Given the description of an element on the screen output the (x, y) to click on. 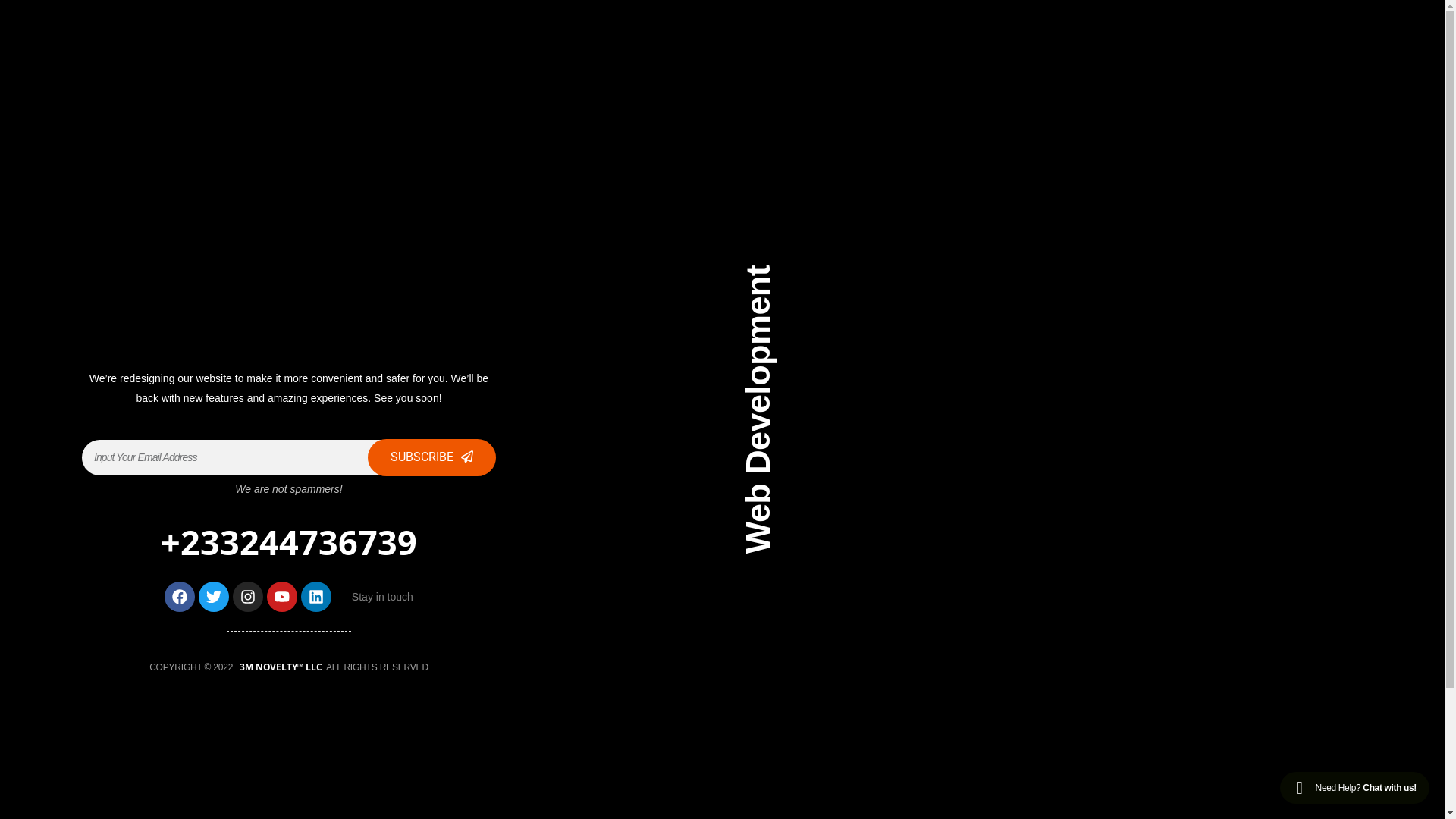
SUBSCRIBE Element type: text (431, 457)
